Given the description of an element on the screen output the (x, y) to click on. 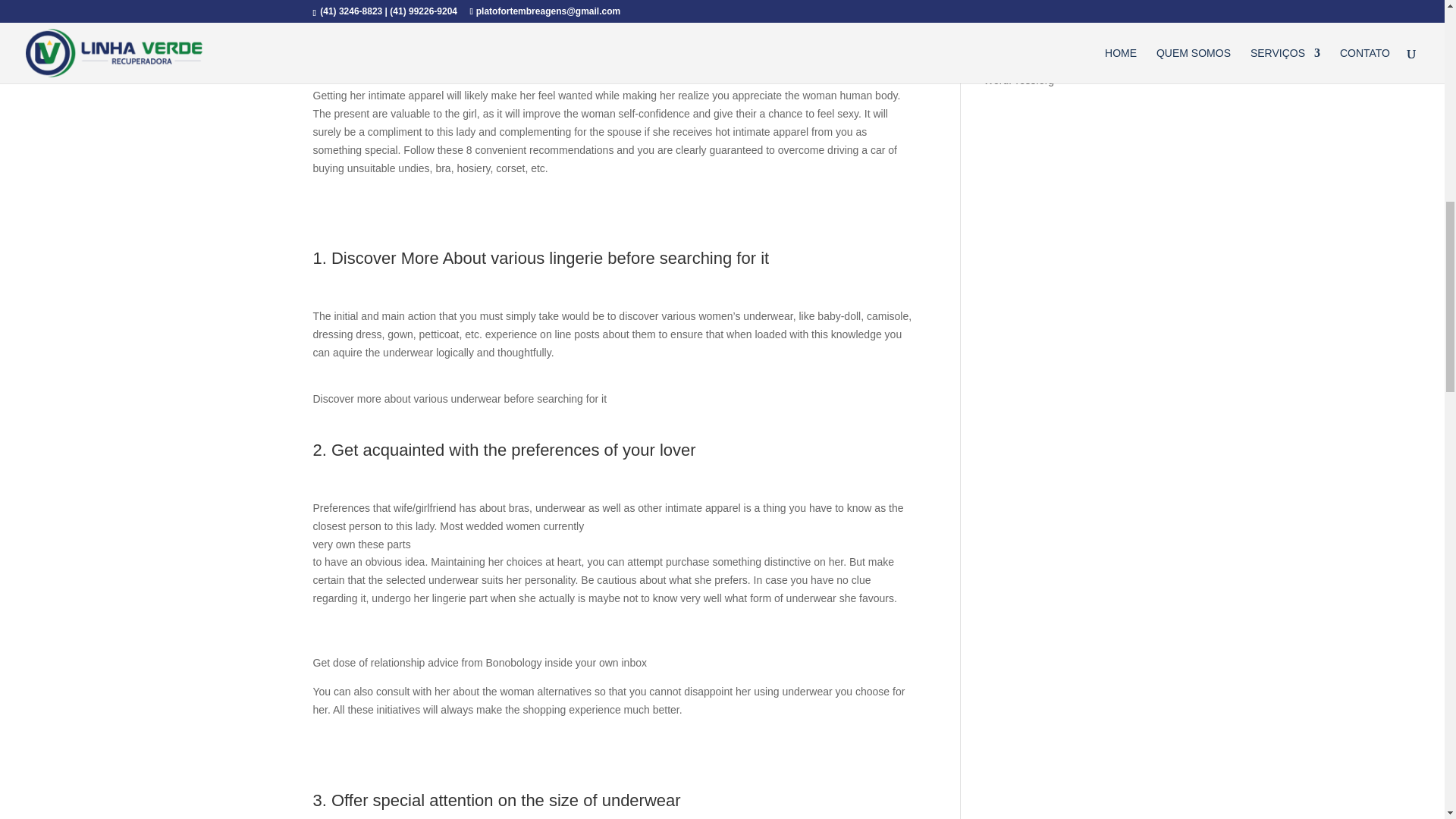
Feed de posts (1017, 33)
WordPress.org (1019, 80)
Acessar (1003, 10)
